Given the description of an element on the screen output the (x, y) to click on. 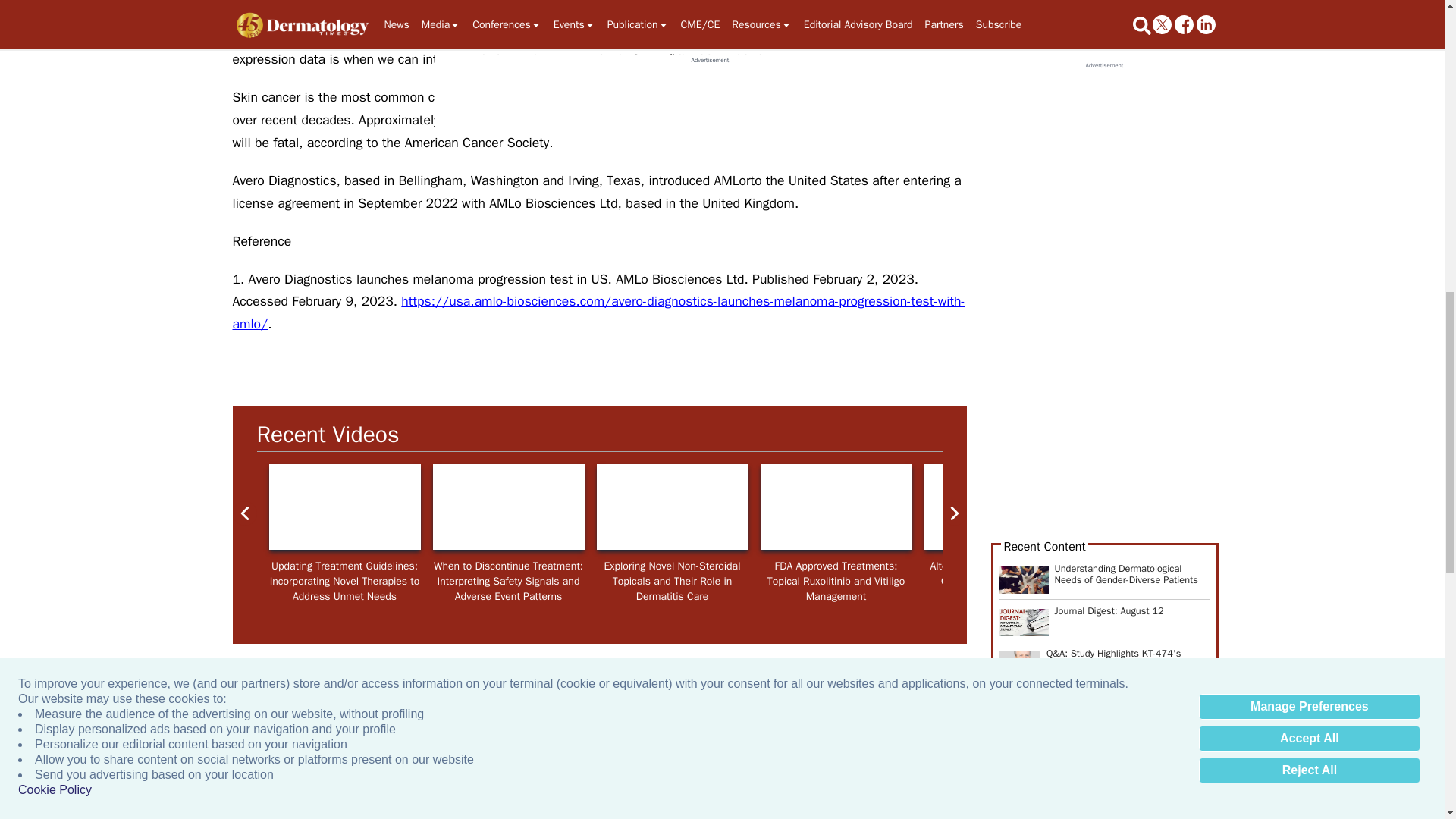
4 KOLs are featured on this panel. (343, 506)
4 KOLs are featured on this panel. (1326, 506)
4 KOLs are featured on this panel. (507, 506)
